Given the description of an element on the screen output the (x, y) to click on. 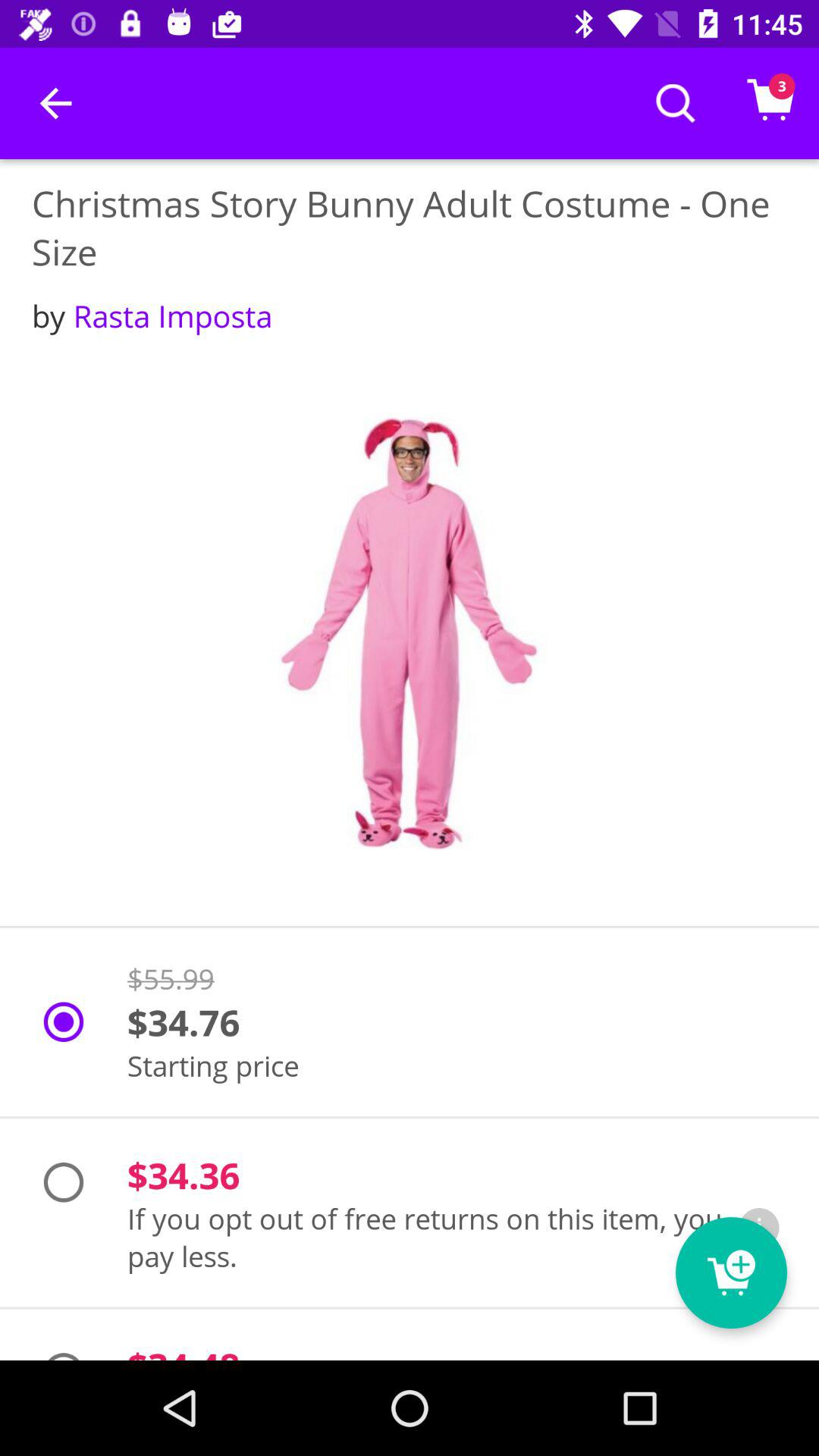
swipe until by rasta imposta item (151, 315)
